Given the description of an element on the screen output the (x, y) to click on. 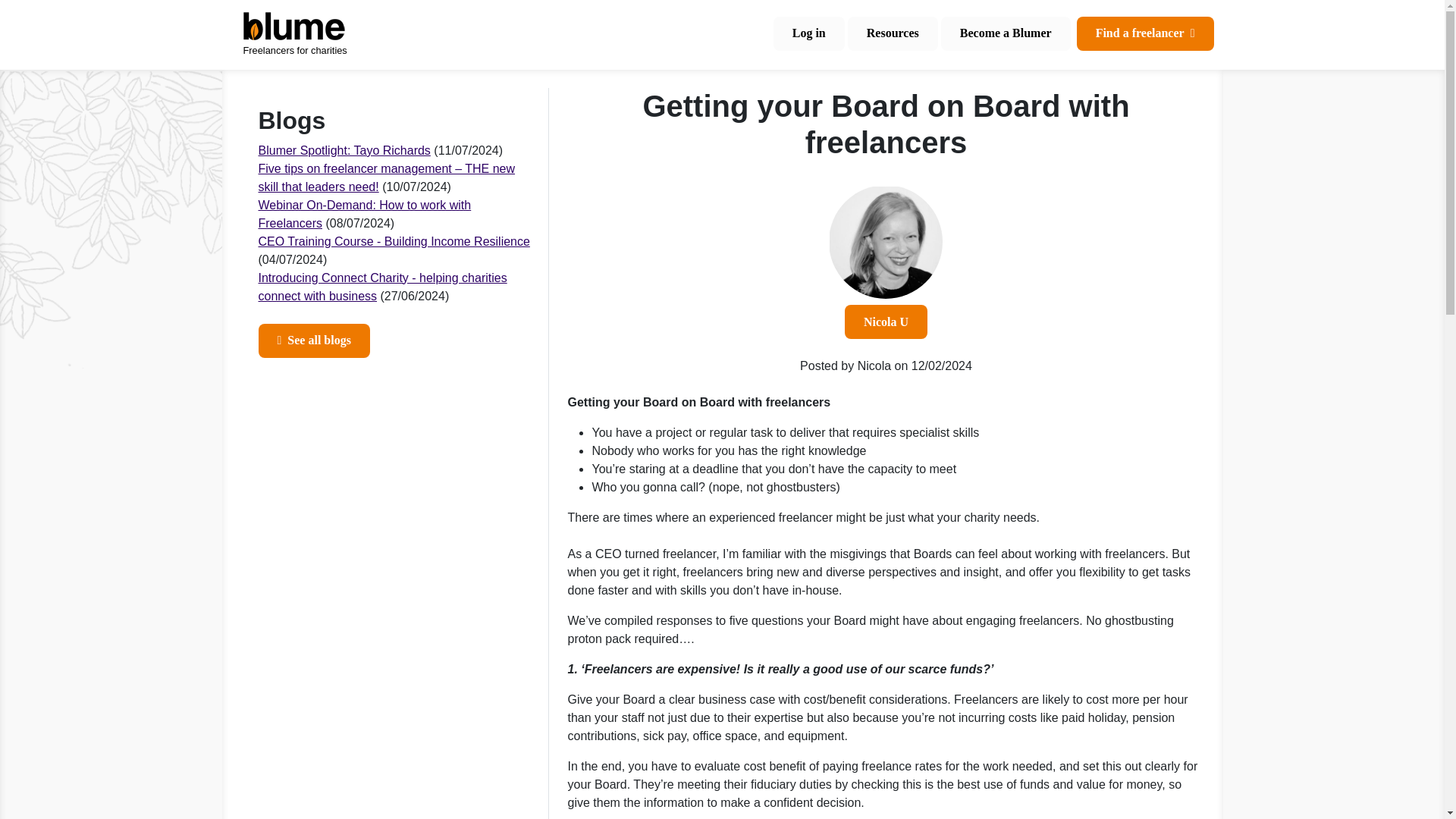
Nicola U (885, 321)
Find a freelancer (1145, 33)
See all blogs (313, 340)
Blume home (312, 34)
Blumer Spotlight: Tayo Richards (343, 150)
Log in (808, 33)
Resources (892, 33)
CEO Training Course - Building Income Resilience (393, 241)
Webinar On-Demand: How to work with Freelancers (363, 214)
Freelancers for charities (312, 34)
Become a Blumer (1005, 33)
